Given the description of an element on the screen output the (x, y) to click on. 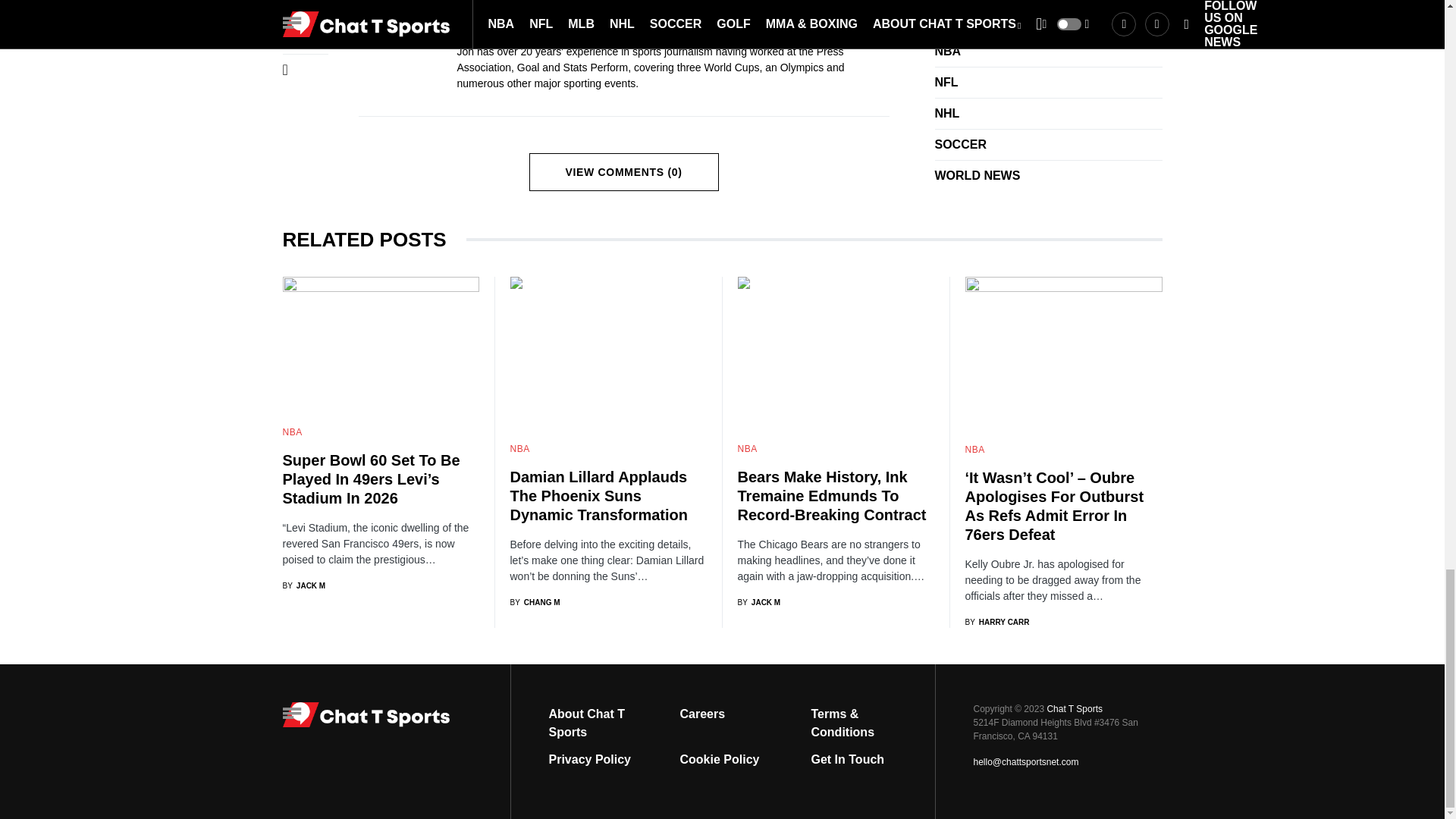
View all posts by Jack M (303, 585)
View all posts by Jack M (758, 602)
View all posts by Chang M (534, 602)
View all posts by Harry Carr (996, 621)
